Given the description of an element on the screen output the (x, y) to click on. 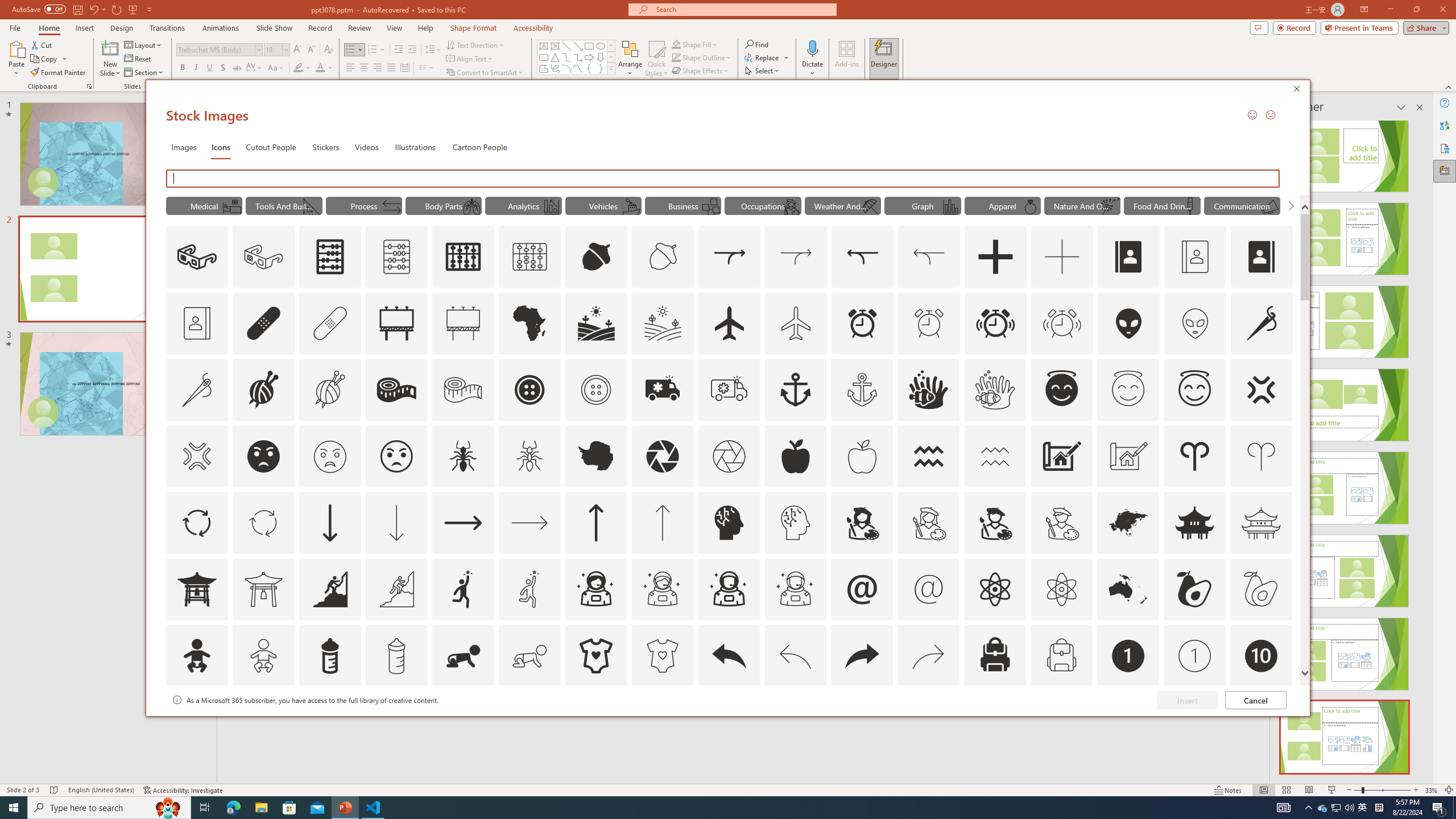
AutomationID: Icons_AlterationsTailoring2_M (462, 389)
AutomationID: Icons_Anchor (795, 389)
AutomationID: Icons_Back_LTR_M (795, 655)
AutomationID: Icons_Aries_M (1260, 455)
